Given the description of an element on the screen output the (x, y) to click on. 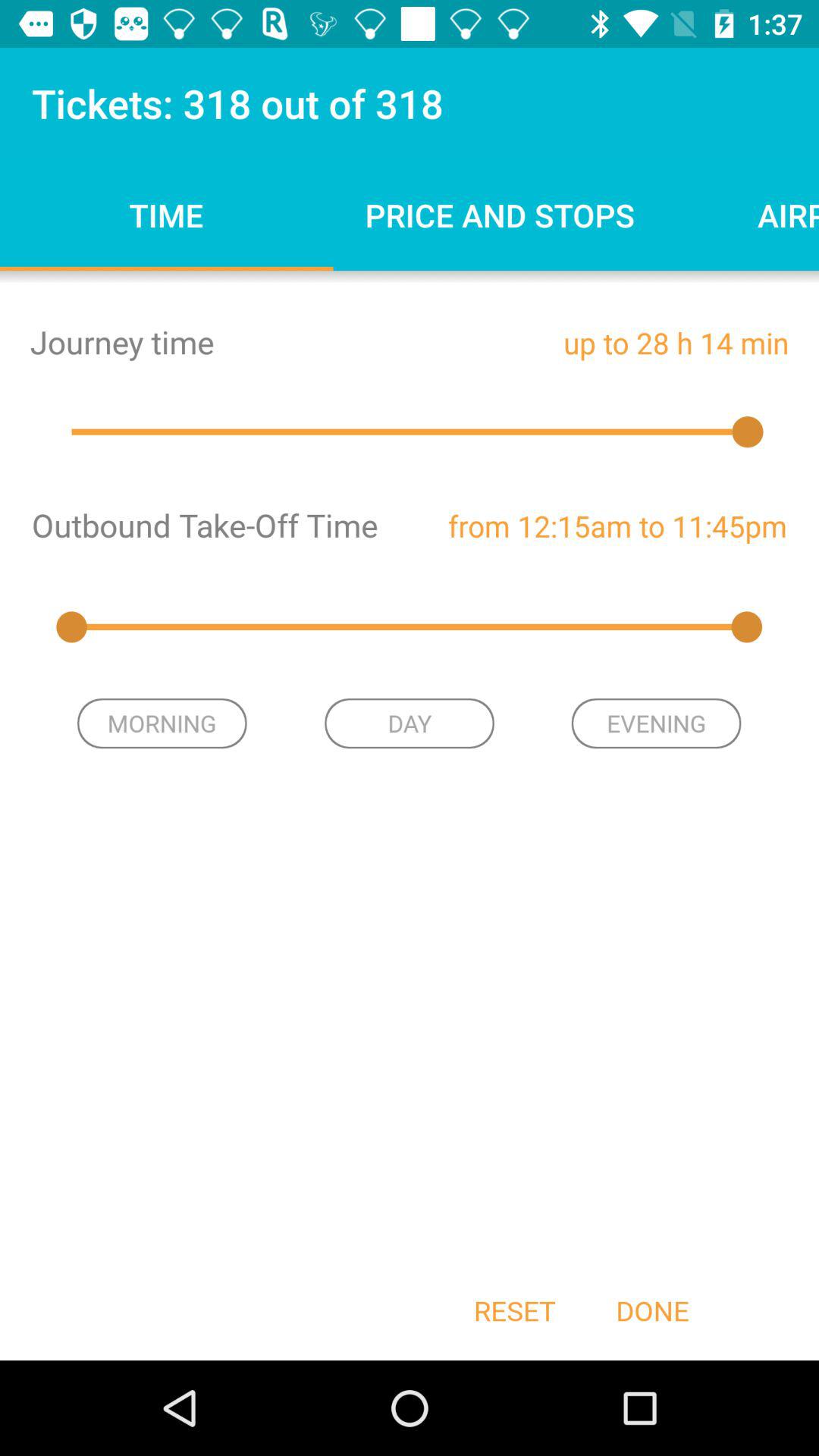
turn off the evening (656, 723)
